Given the description of an element on the screen output the (x, y) to click on. 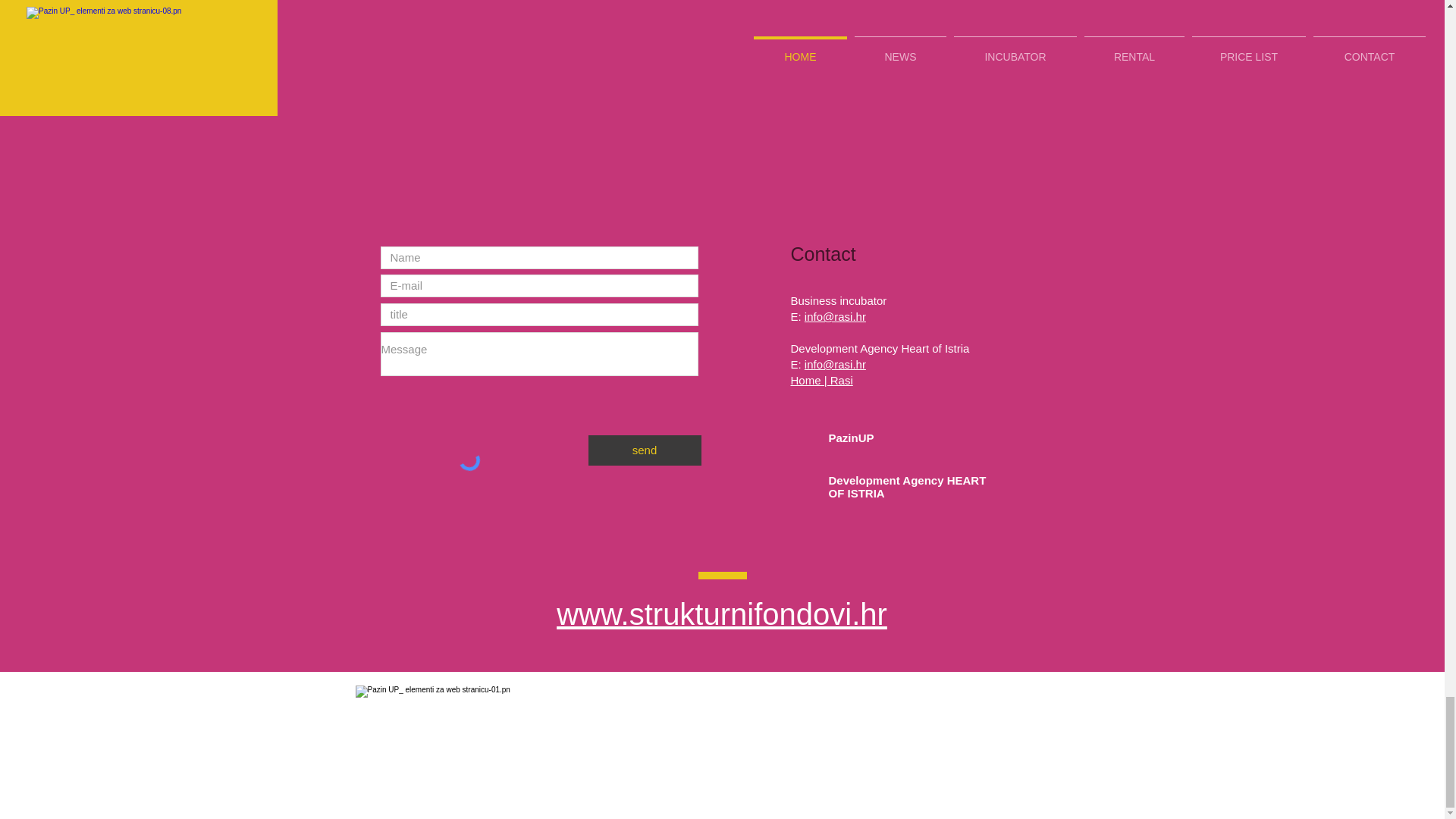
Development Agency HEART OF ISTRIA (906, 486)
send (644, 450)
www.strukturnifondovi.hr (721, 613)
